Given the description of an element on the screen output the (x, y) to click on. 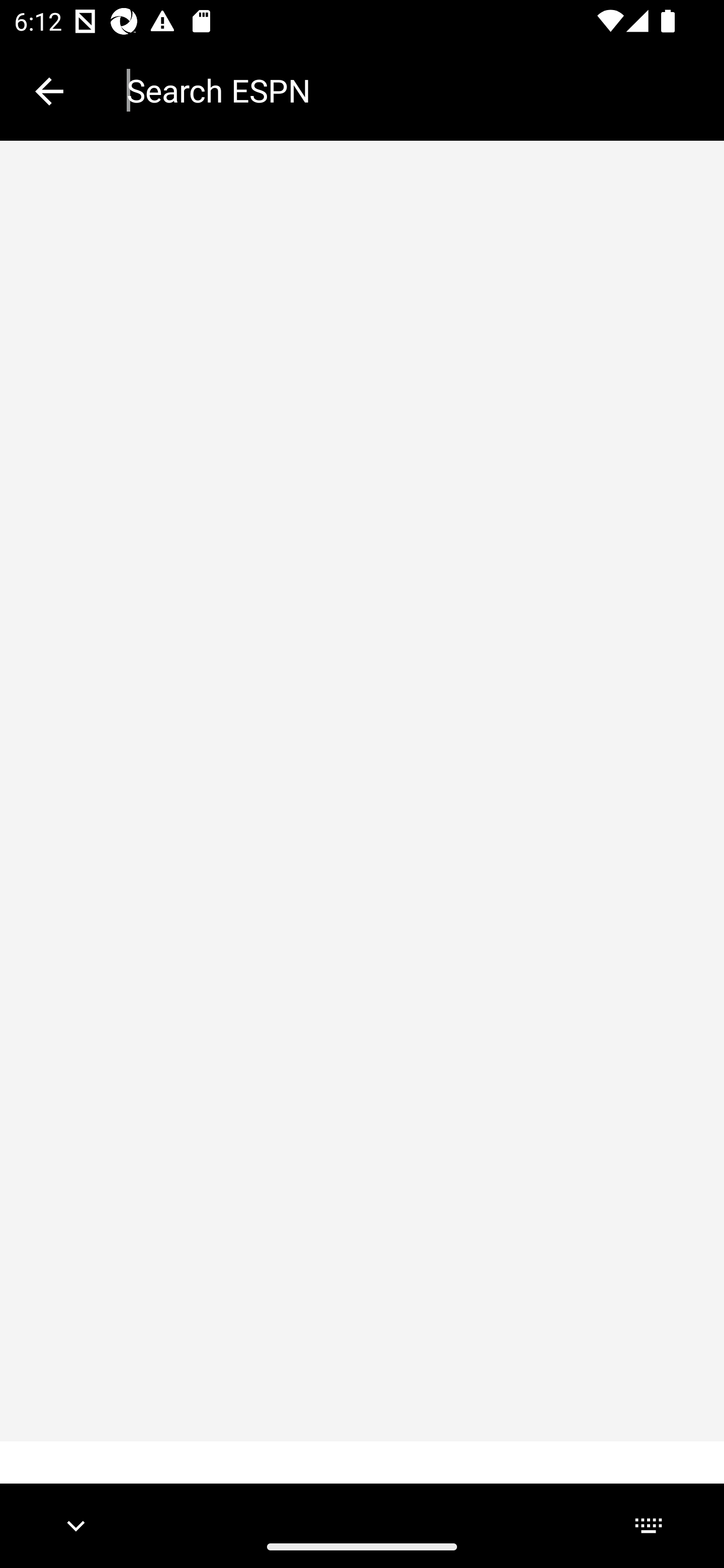
Collapse (49, 91)
Search ESPN (411, 90)
